Given the description of an element on the screen output the (x, y) to click on. 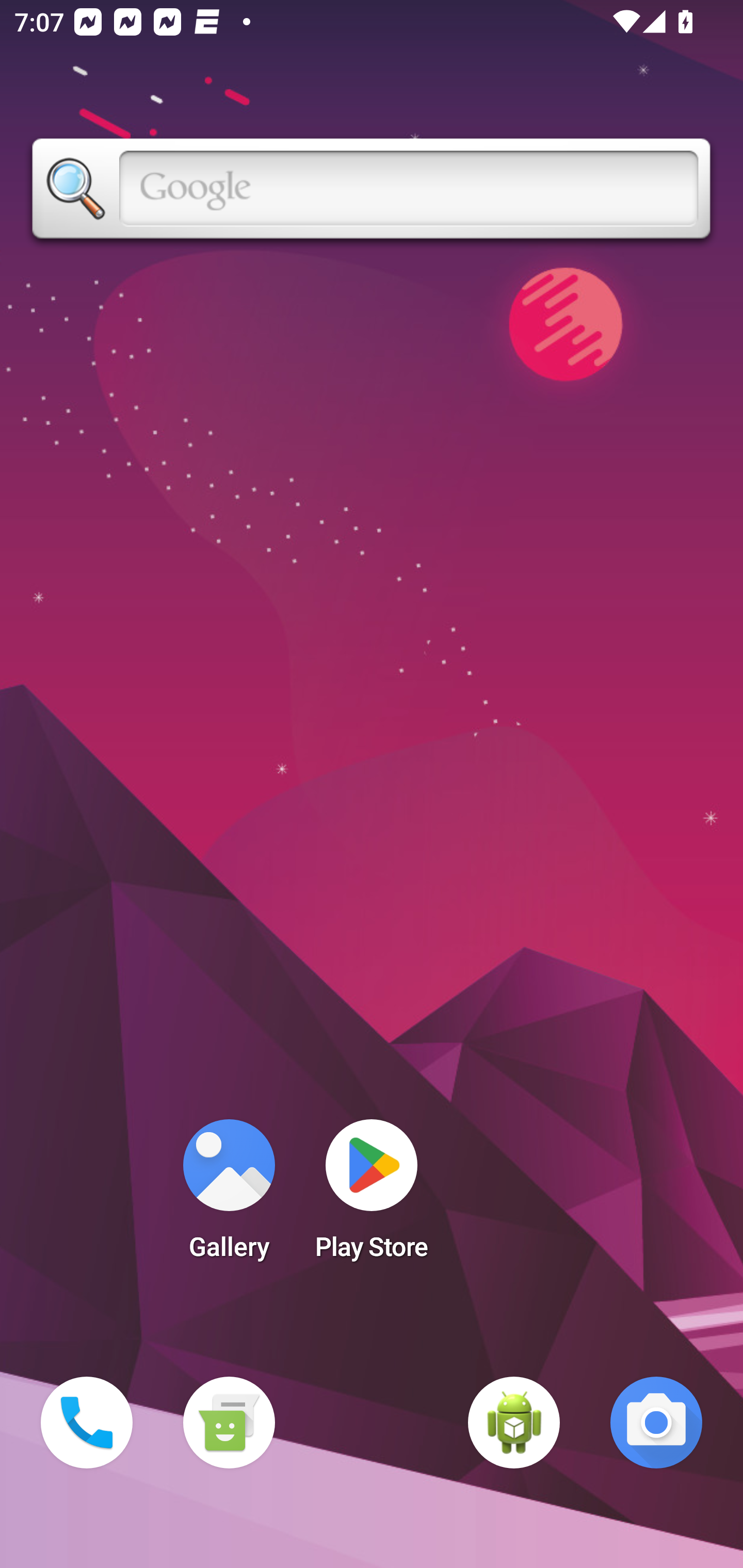
Gallery (228, 1195)
Play Store (371, 1195)
Phone (86, 1422)
Messaging (228, 1422)
WebView Browser Tester (513, 1422)
Camera (656, 1422)
